Given the description of an element on the screen output the (x, y) to click on. 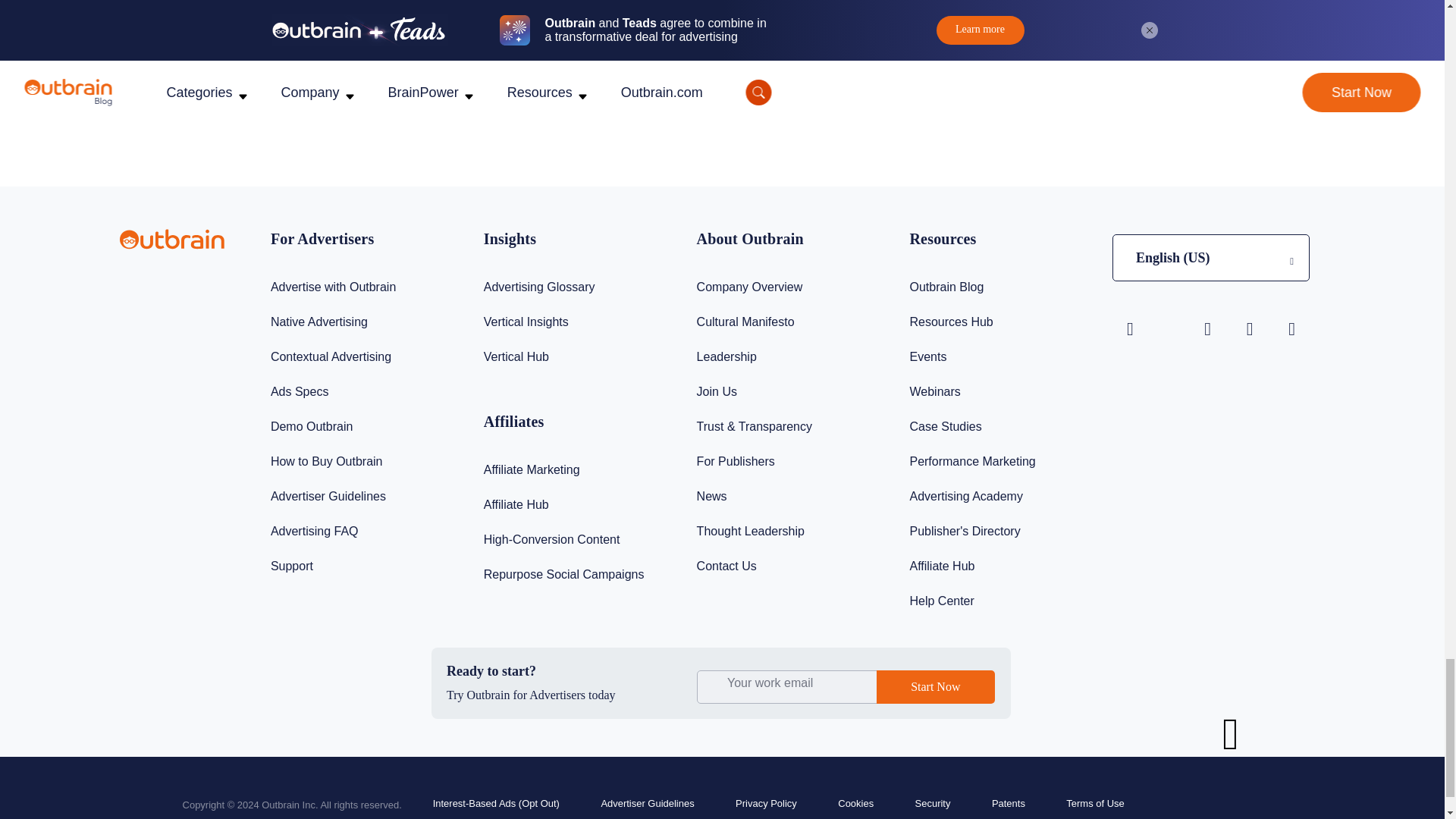
Jelena Jeknic (321, 85)
Adi Haddif (935, 85)
Chris Weare (627, 85)
Start Now (935, 686)
